Given the description of an element on the screen output the (x, y) to click on. 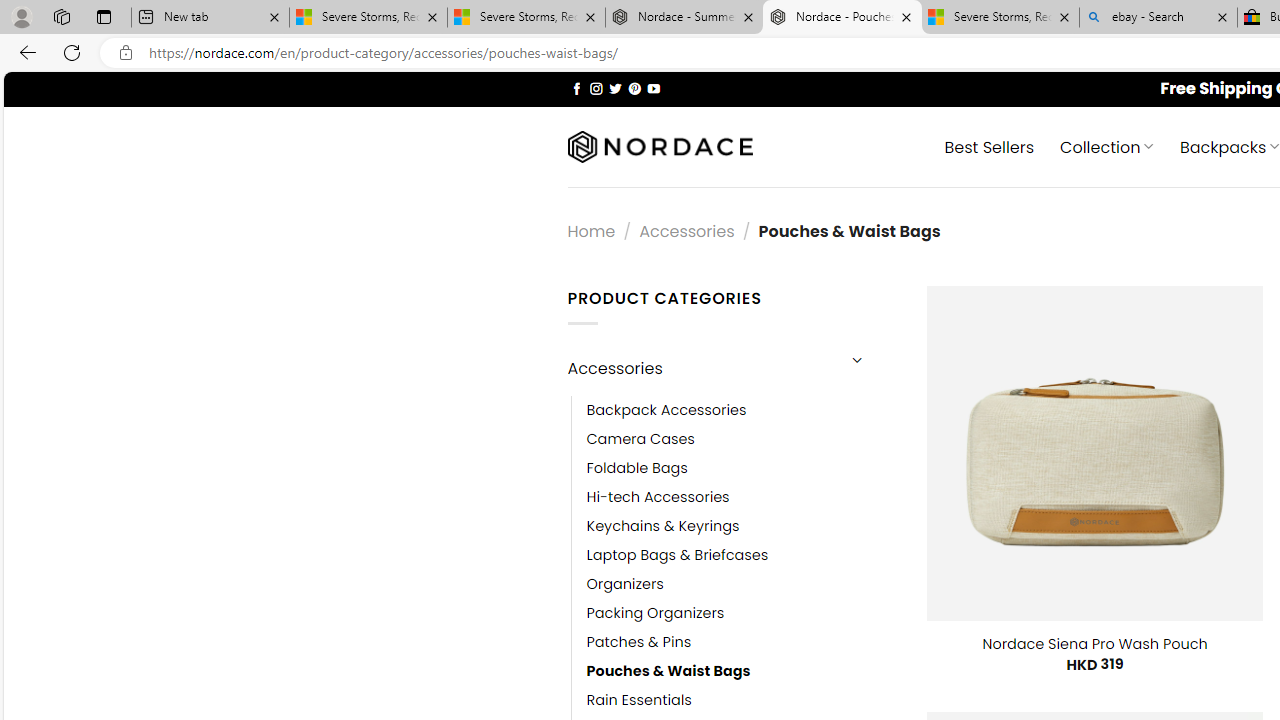
Camera Cases (640, 439)
Nordace - Pouches & Waist Bags (842, 17)
Patches & Pins (742, 642)
Pouches & Waist Bags (742, 671)
Accessories (700, 368)
Hi-tech Accessories (742, 496)
Packing Organizers (742, 614)
  Best Sellers (989, 146)
 Best Sellers (989, 146)
Laptop Bags & Briefcases (677, 555)
Rain Essentials (639, 700)
